Given the description of an element on the screen output the (x, y) to click on. 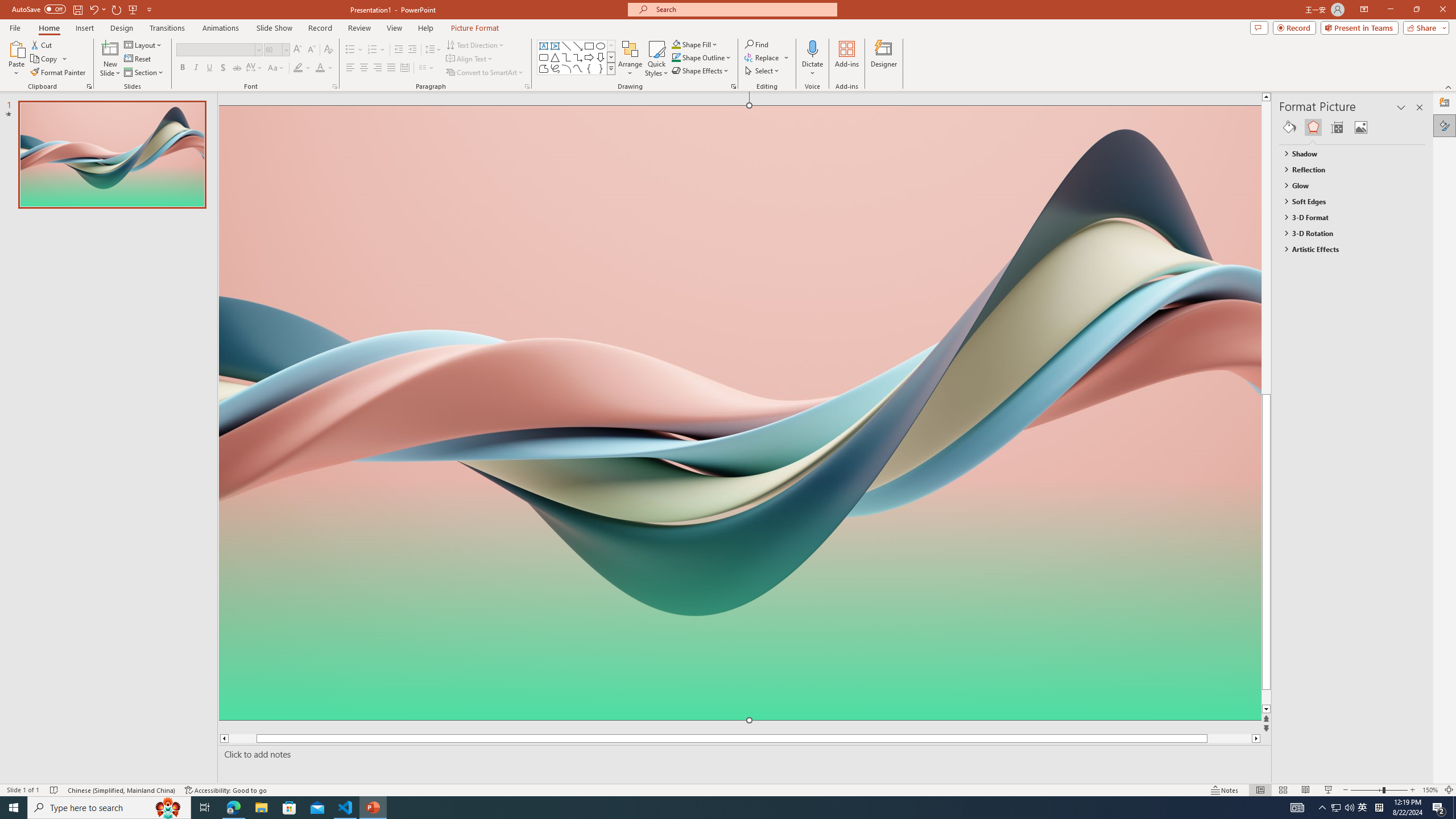
Picture Format (475, 28)
